Given the description of an element on the screen output the (x, y) to click on. 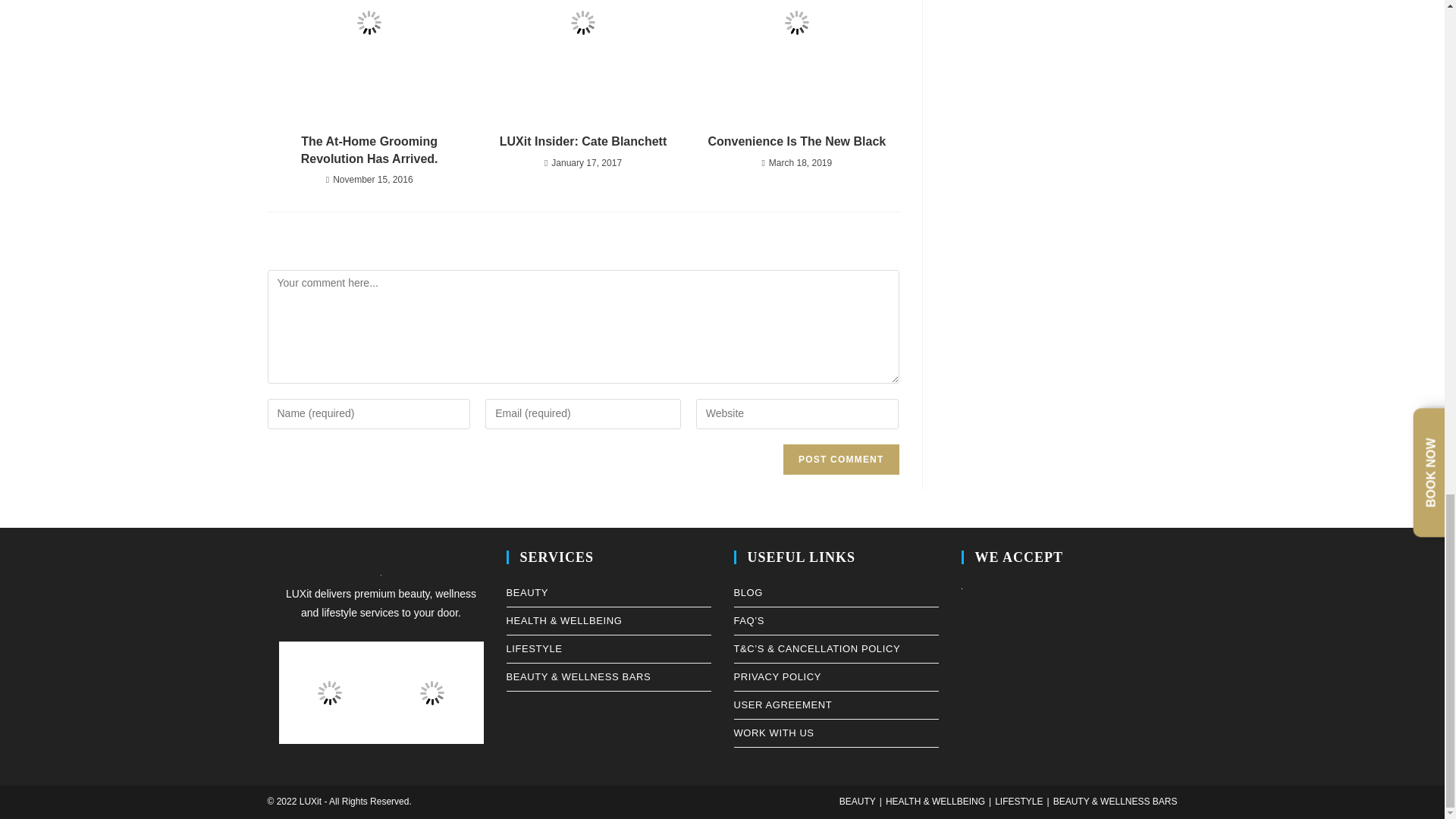
Post Comment (840, 459)
